Given the description of an element on the screen output the (x, y) to click on. 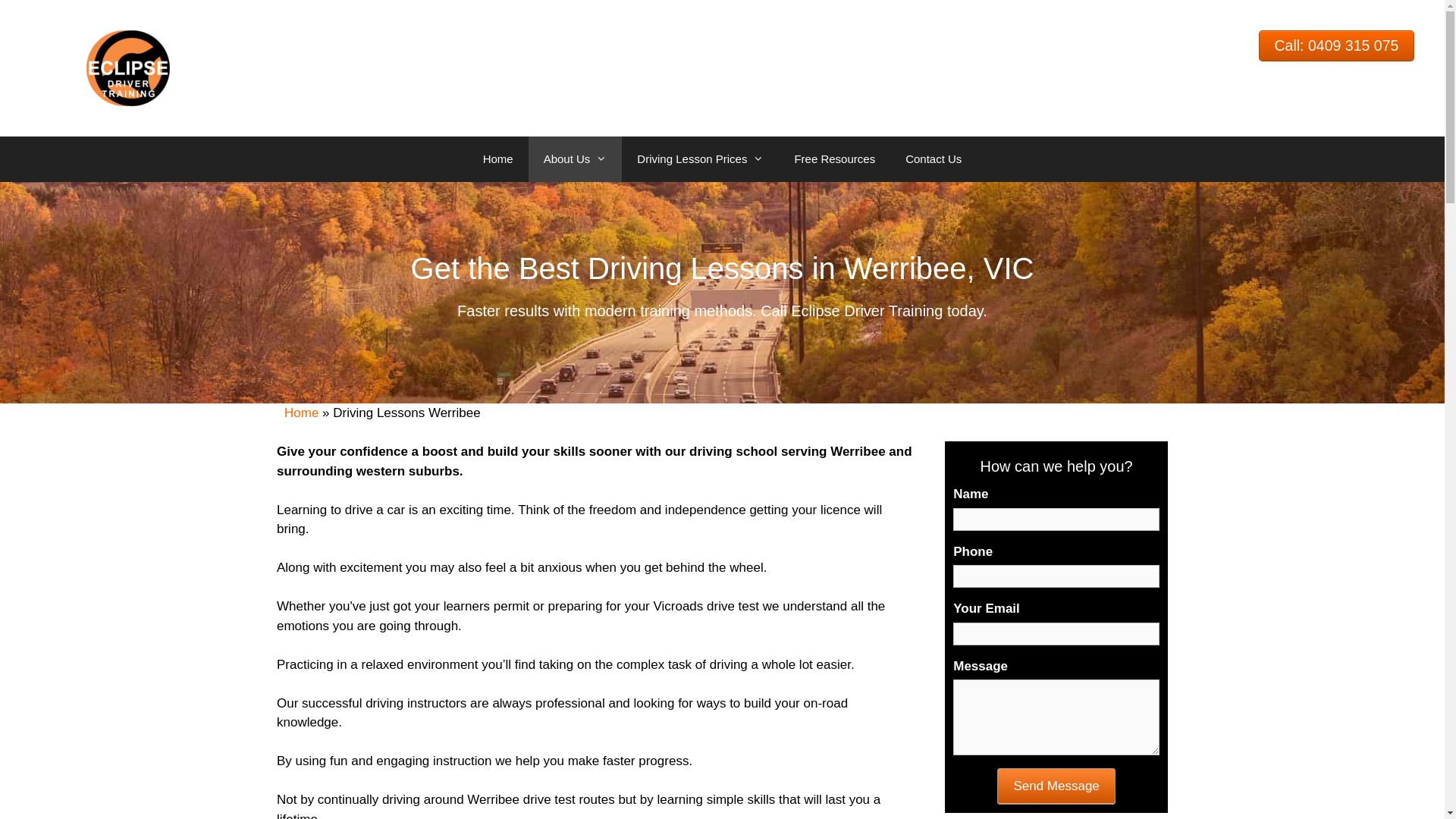
Home Element type: text (301, 412)
Home Element type: text (497, 159)
Call: 0409 315 075 Element type: text (1336, 45)
Free Resources Element type: text (834, 159)
Send Message Element type: text (1055, 786)
About Us Element type: text (575, 159)
Contact Us Element type: text (933, 159)
Driving Lesson Prices Element type: text (699, 159)
